Given the description of an element on the screen output the (x, y) to click on. 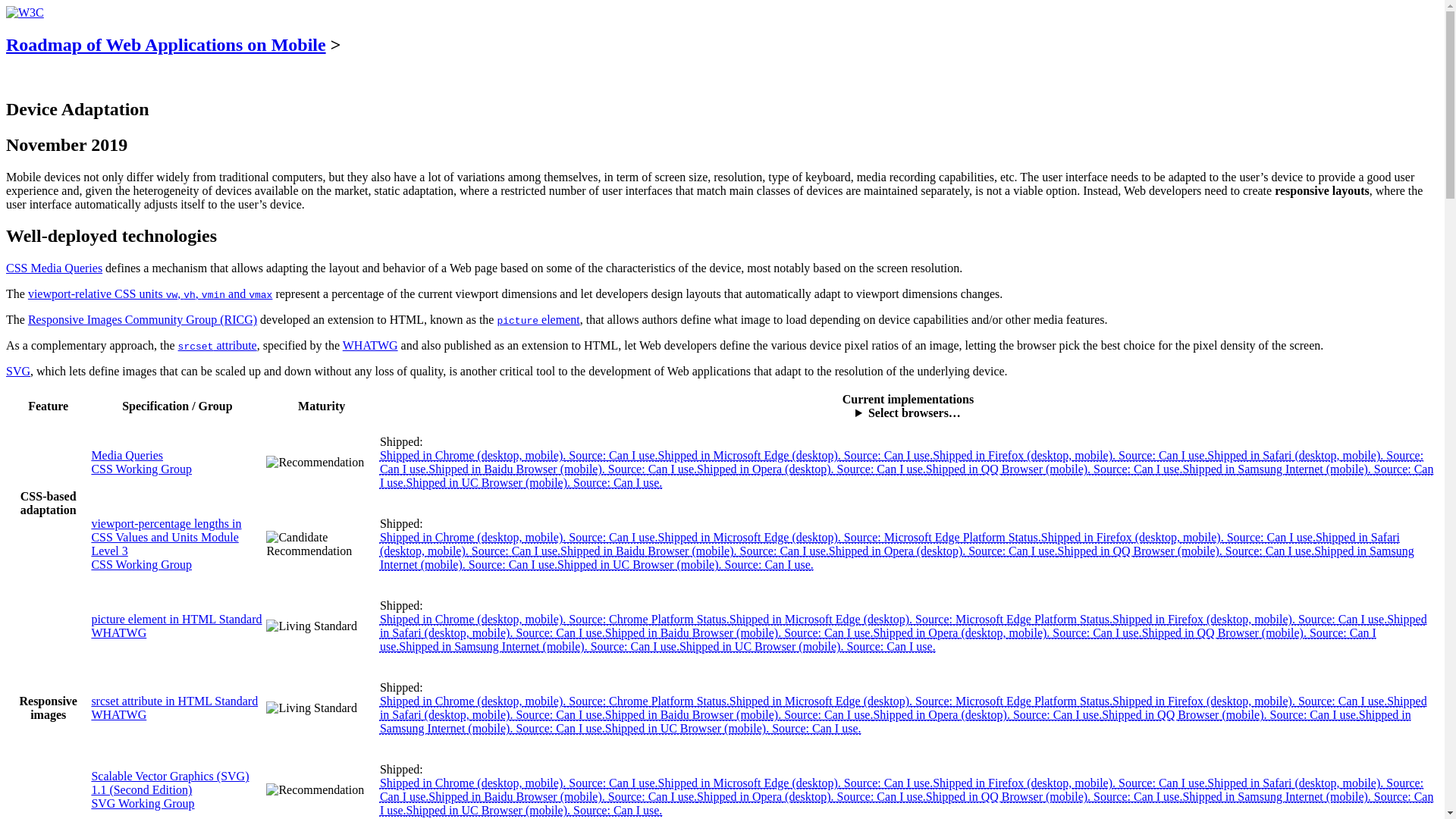
Media Queries (126, 454)
picture element (537, 318)
CSS Media Queries (53, 267)
Roadmap of Web Applications on Mobile (165, 44)
viewport-relative CSS units vw, vh, vmin and vmax (150, 293)
WHATWG (118, 632)
CSS Working Group (141, 563)
CSS Working Group (141, 468)
SVG (17, 370)
